Given the description of an element on the screen output the (x, y) to click on. 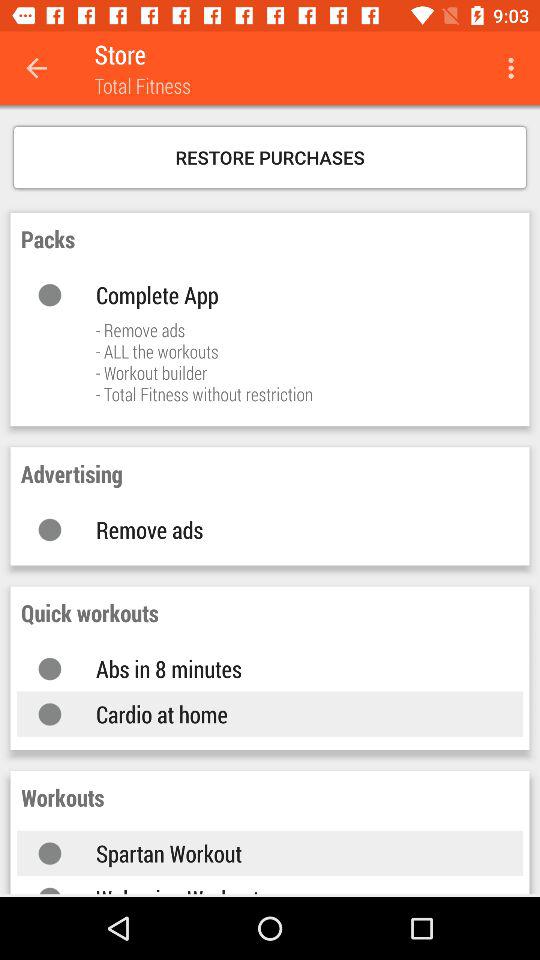
press spartan workout (289, 853)
